Given the description of an element on the screen output the (x, y) to click on. 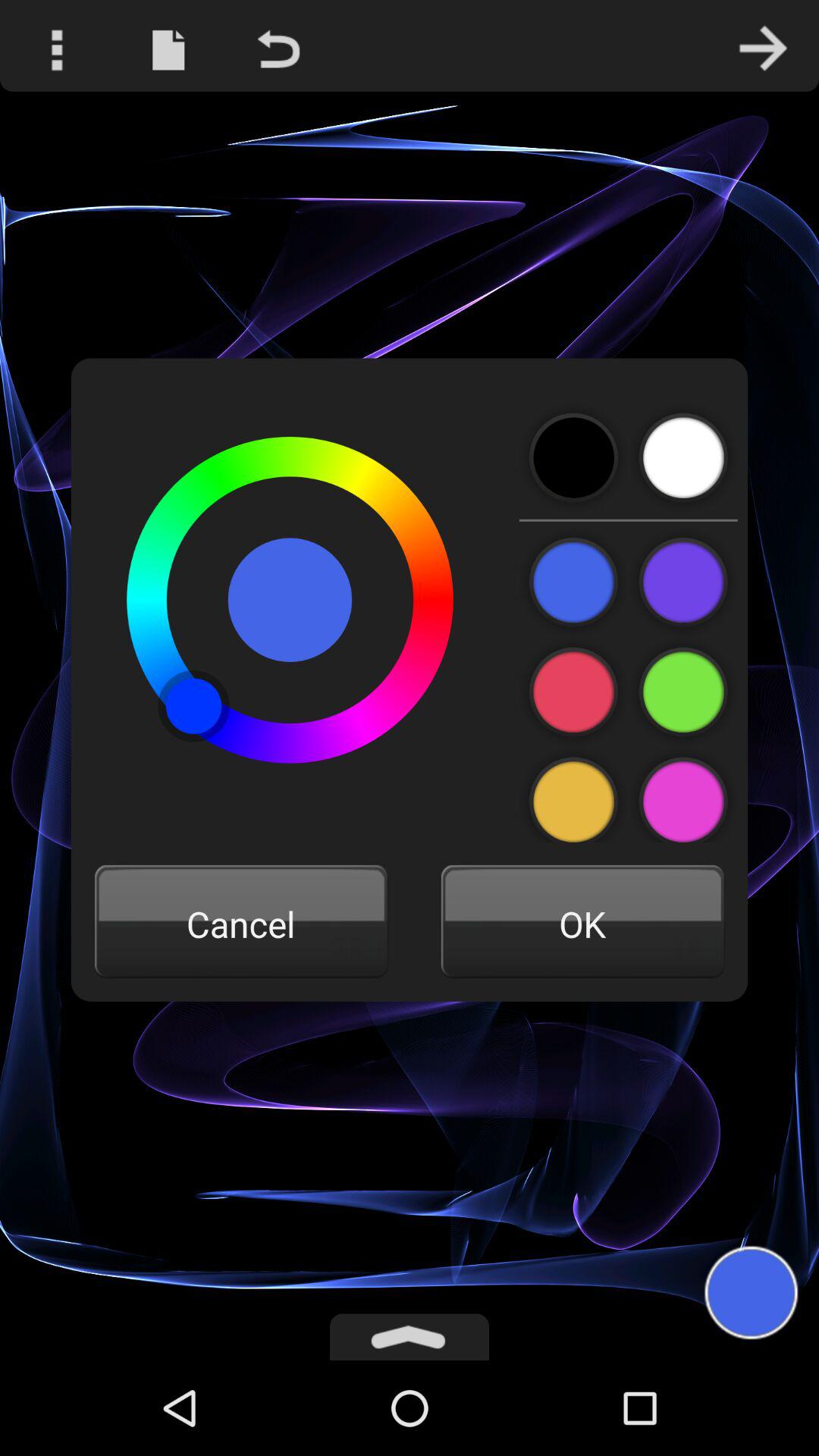
pink (574, 692)
